Given the description of an element on the screen output the (x, y) to click on. 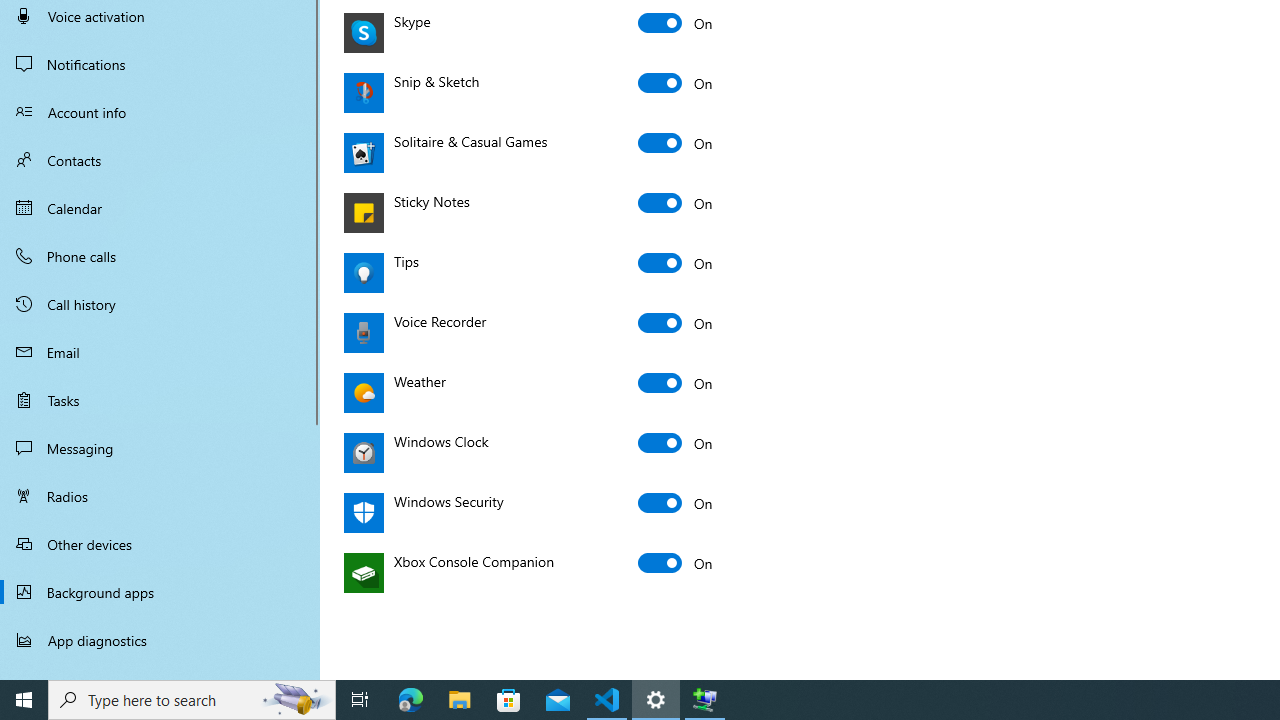
Voice Recorder (675, 322)
Contacts (160, 160)
Weather (675, 382)
App diagnostics (160, 639)
Windows Clock (675, 442)
Search highlights icon opens search home window (295, 699)
Type here to search (191, 699)
Solitaire & Casual Games (675, 142)
Phone calls (160, 255)
Skype (675, 22)
File Explorer (460, 699)
Other devices (160, 543)
Visual Studio Code - 1 running window (607, 699)
Microsoft Store (509, 699)
Windows Security (675, 502)
